Given the description of an element on the screen output the (x, y) to click on. 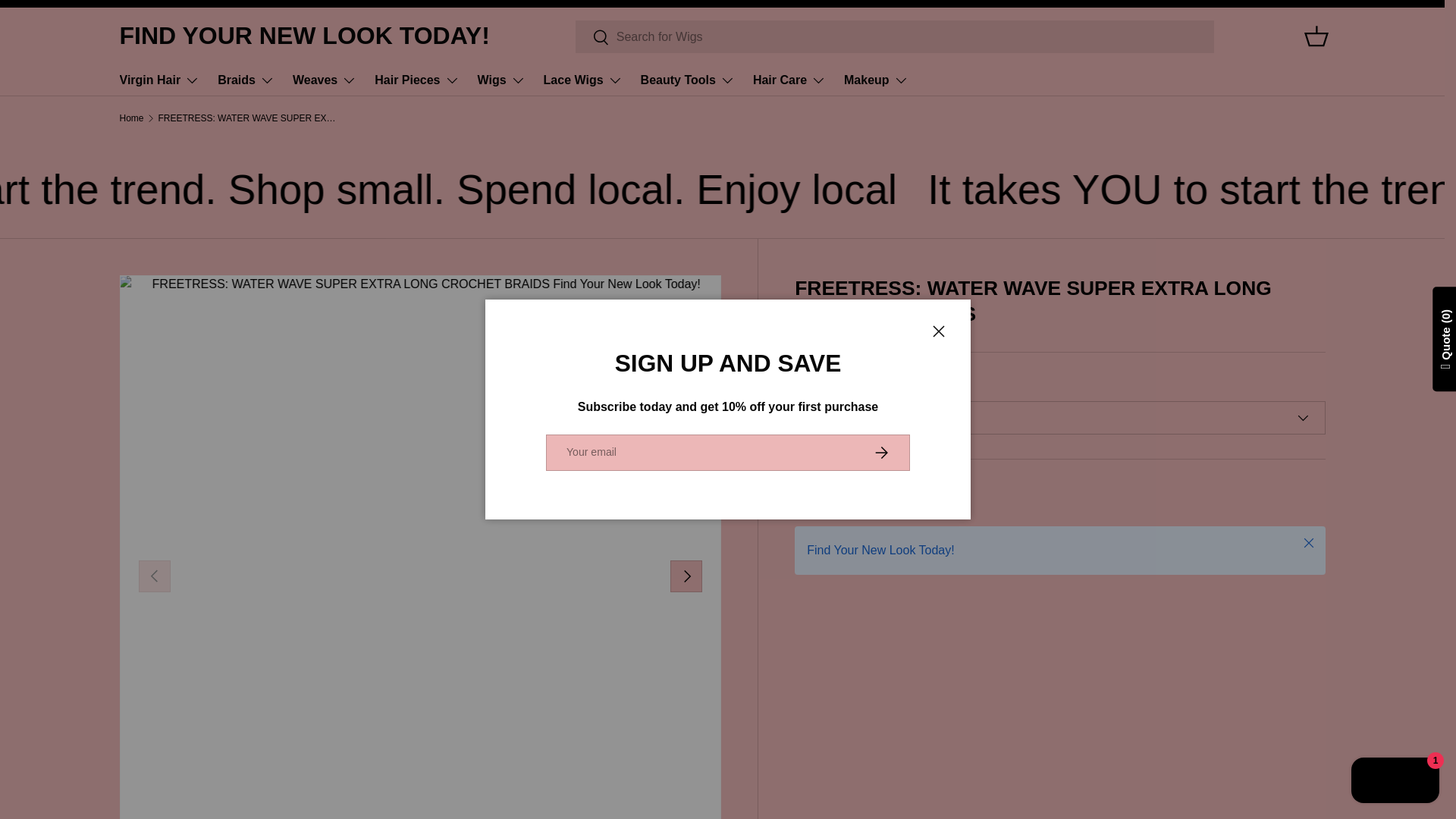
Weaves (324, 80)
Wigs (501, 80)
SKIP TO CONTENT (68, 21)
Search (592, 37)
Basket (1316, 36)
FIND YOUR NEW LOOK TODAY! (304, 36)
Shopify online store chat (1395, 781)
Virgin Hair (159, 80)
Braids (245, 80)
Lace Wigs (583, 80)
